Given the description of an element on the screen output the (x, y) to click on. 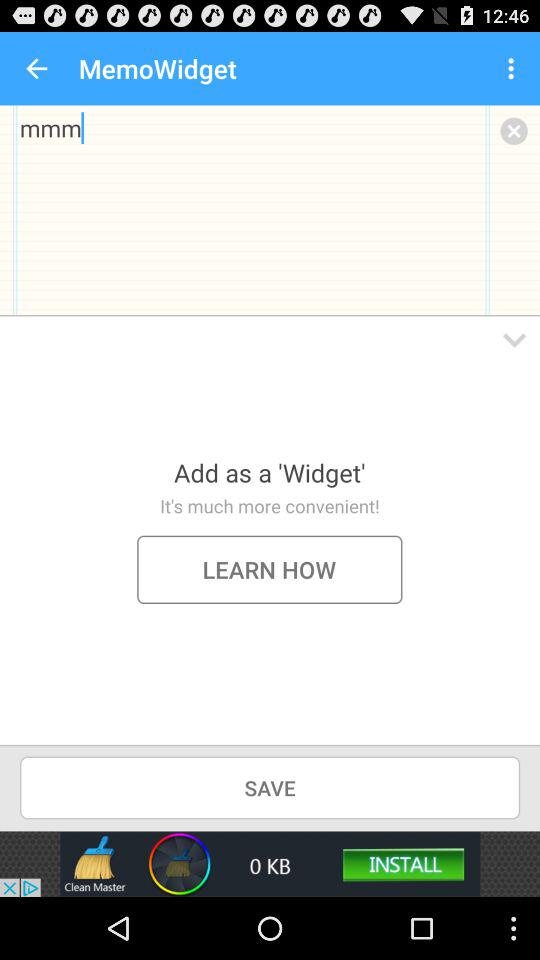
for advertisement (270, 864)
